Given the description of an element on the screen output the (x, y) to click on. 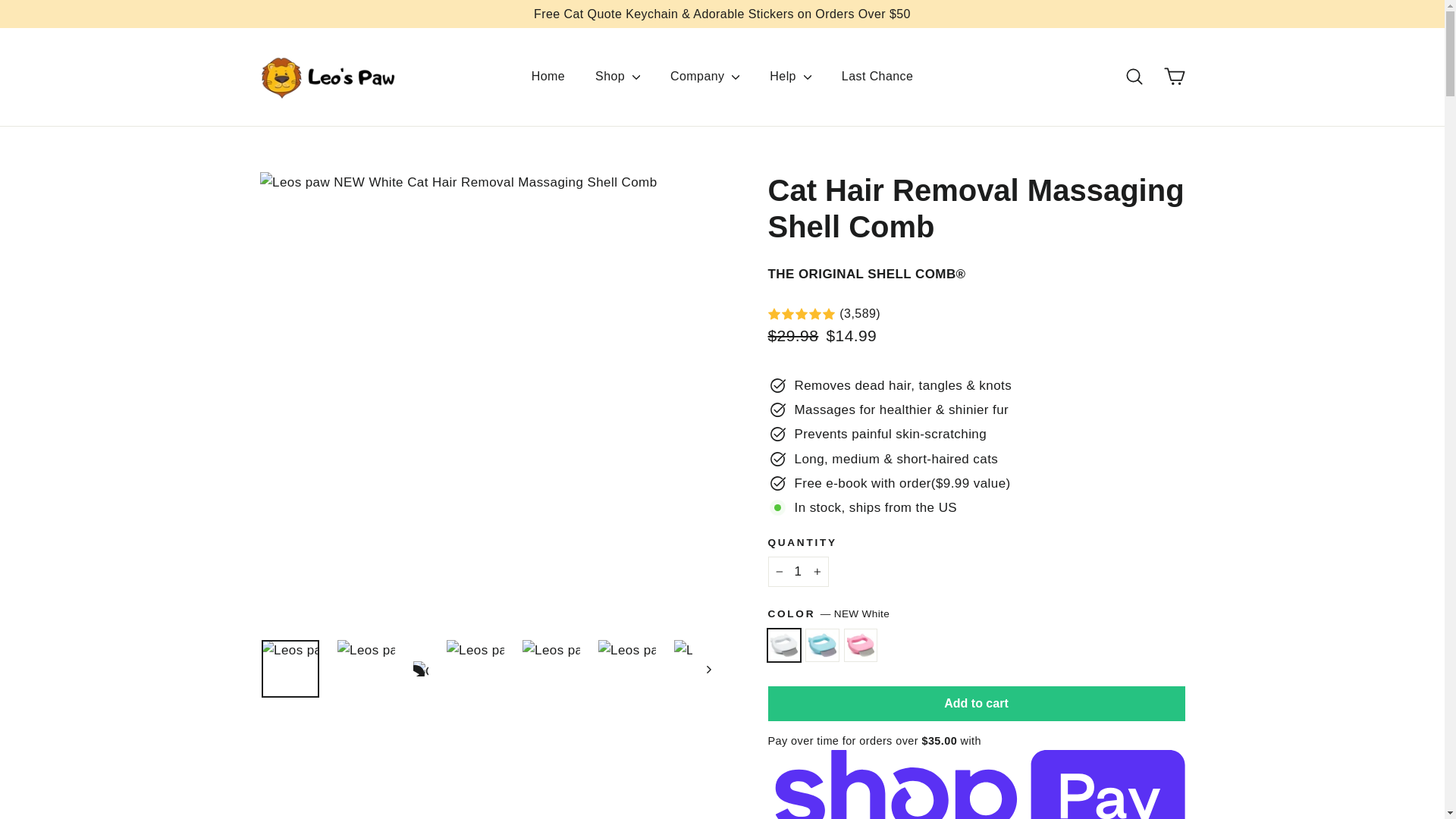
Home (547, 76)
Shop (617, 76)
1 (797, 571)
